Given the description of an element on the screen output the (x, y) to click on. 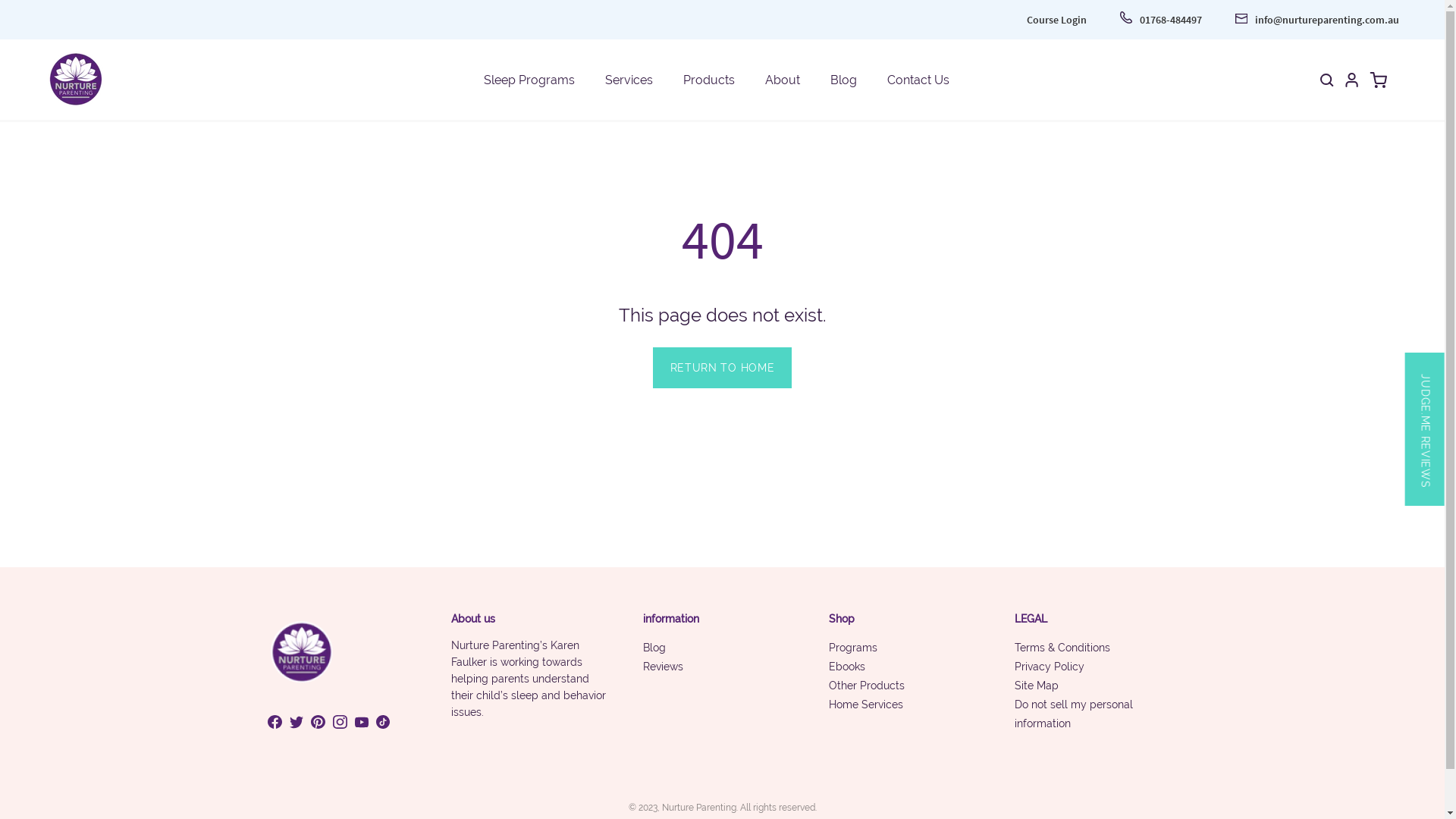
View Nurture Parenting Shop on Facebook Element type: hover (273, 722)
Products Element type: text (708, 78)
My Account Element type: text (1351, 79)
Blog Element type: text (654, 647)
Blog Element type: text (843, 78)
View Nurture Parenting Shop on Instagram Element type: hover (339, 722)
RETURN TO HOME Element type: text (722, 367)
Sleep Programs Element type: text (528, 78)
Shop Element type: text (841, 619)
Nurture Parenting Element type: text (698, 807)
View Nurture Parenting Shop on Twitter Element type: hover (296, 722)
info@nurtureparenting.com.au Element type: text (1317, 20)
Open cart Element type: text (1378, 79)
Course Login Element type: text (1056, 20)
information Element type: text (671, 619)
Do not sell my personal information Element type: text (1073, 713)
Privacy Policy Element type: text (1049, 666)
Terms & Conditions Element type: text (1062, 647)
Programs Element type: text (852, 647)
View Nurture Parenting Shop on Tiktok Element type: hover (382, 722)
Home Services Element type: text (865, 704)
Other Products Element type: text (866, 685)
Services Element type: text (628, 78)
View Nurture Parenting Shop on Youtube Element type: hover (361, 722)
01768-484497 Element type: text (1160, 19)
LEGAL Element type: text (1030, 619)
Site Map Element type: text (1036, 685)
Reviews Element type: text (663, 666)
About Element type: text (782, 78)
Ebooks Element type: text (846, 666)
Contact Us Element type: text (918, 78)
Open search bar Element type: text (1326, 79)
View Nurture Parenting Shop on Pinterest Element type: hover (317, 722)
